Given the description of an element on the screen output the (x, y) to click on. 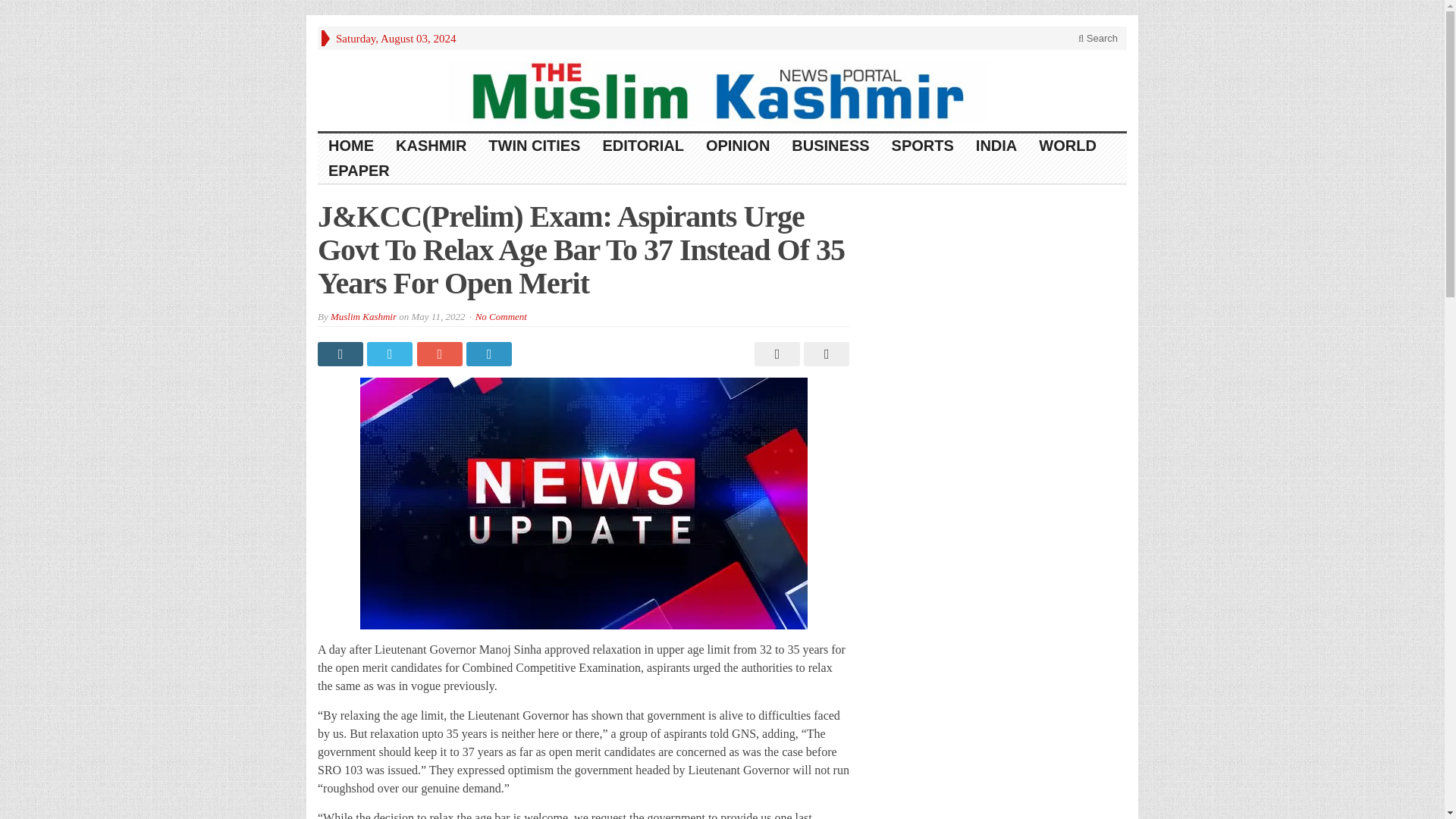
Share on Facebook (341, 354)
Share on LinkedIn (490, 354)
Send by Email (823, 354)
INDIA (996, 145)
No Comment (501, 316)
WORLD (1067, 145)
Search (1097, 37)
HOME (351, 145)
EPAPER (359, 170)
Daily Newspaper (721, 90)
